Given the description of an element on the screen output the (x, y) to click on. 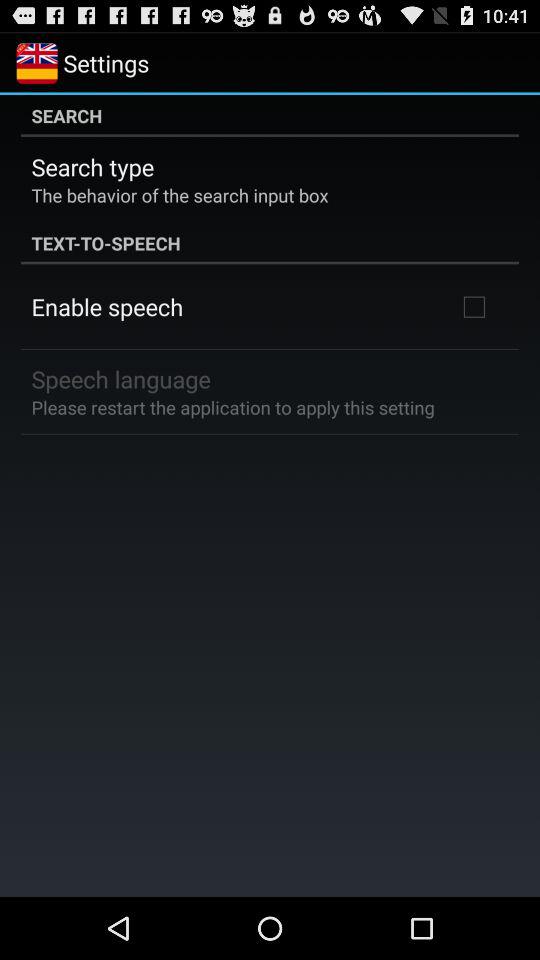
flip until please restart the icon (232, 406)
